Given the description of an element on the screen output the (x, y) to click on. 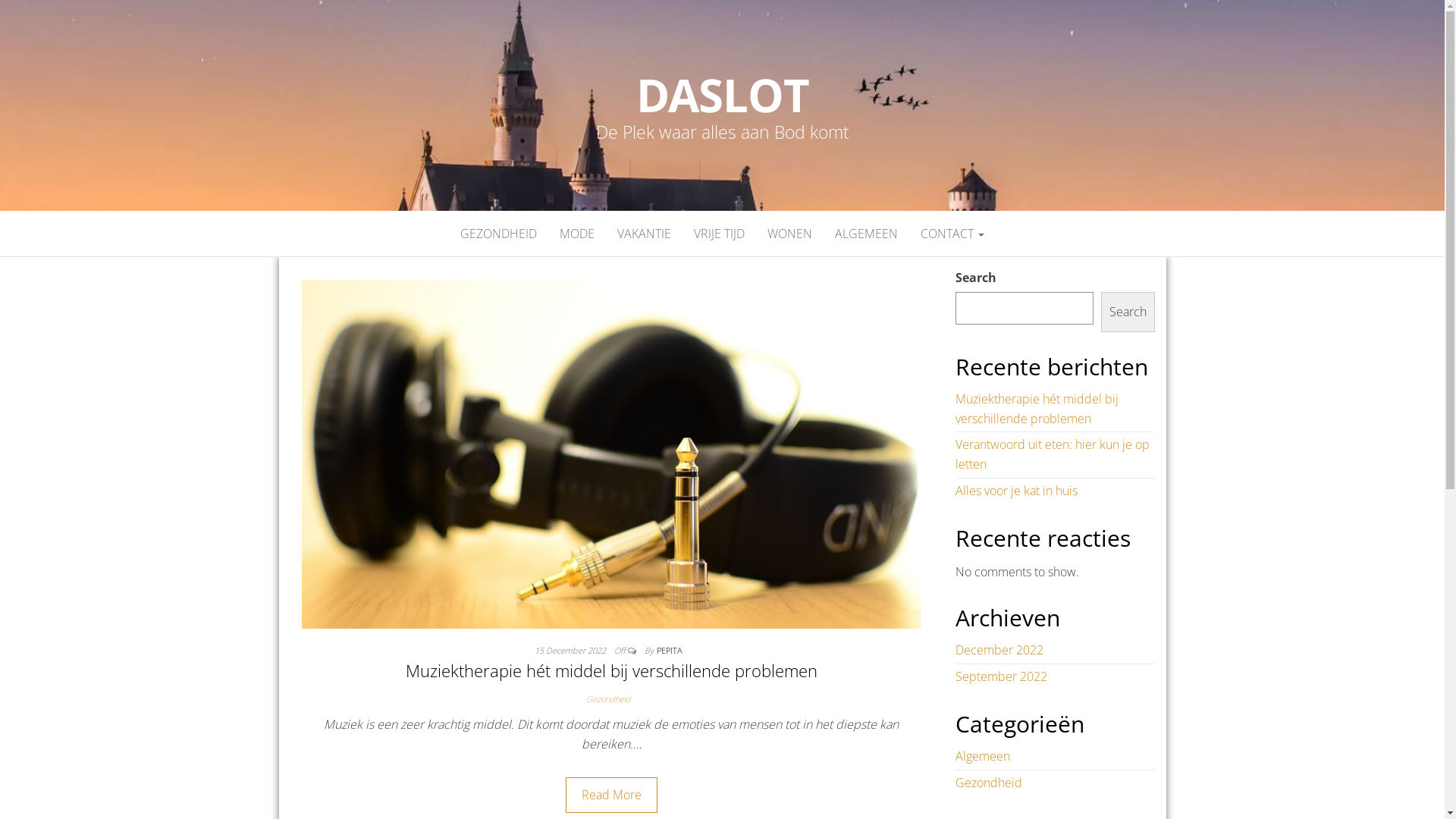
Alles voor je kat in huis Element type: text (1016, 490)
Verantwoord uit eten: hier kun je op letten Element type: text (1052, 454)
VAKANTIE Element type: text (643, 233)
WONEN Element type: text (789, 233)
VRIJE TIJD Element type: text (719, 233)
September 2022 Element type: text (1001, 676)
ALGEMEEN Element type: text (866, 233)
December 2022 Element type: text (999, 649)
Algemeen Element type: text (982, 755)
Search Element type: text (1127, 311)
DASLOT Element type: text (722, 94)
PEPITA Element type: text (669, 649)
CONTACT Element type: text (952, 233)
Read More Element type: text (611, 795)
Gezondheid Element type: text (611, 698)
GEZONDHEID Element type: text (498, 233)
MODE Element type: text (576, 233)
Gezondheid Element type: text (988, 782)
